Given the description of an element on the screen output the (x, y) to click on. 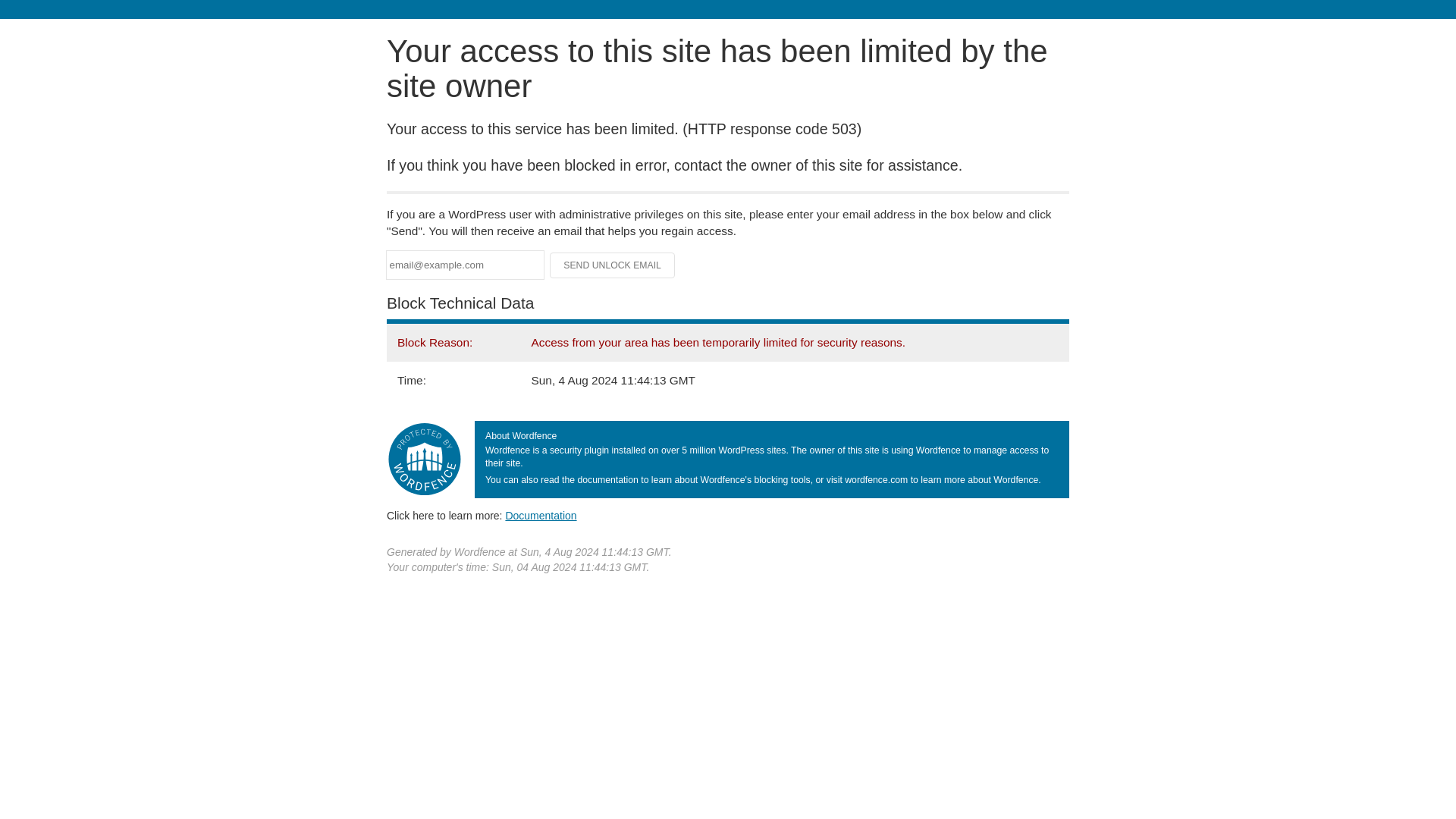
Send Unlock Email (612, 265)
Documentation (540, 515)
Send Unlock Email (612, 265)
